Given the description of an element on the screen output the (x, y) to click on. 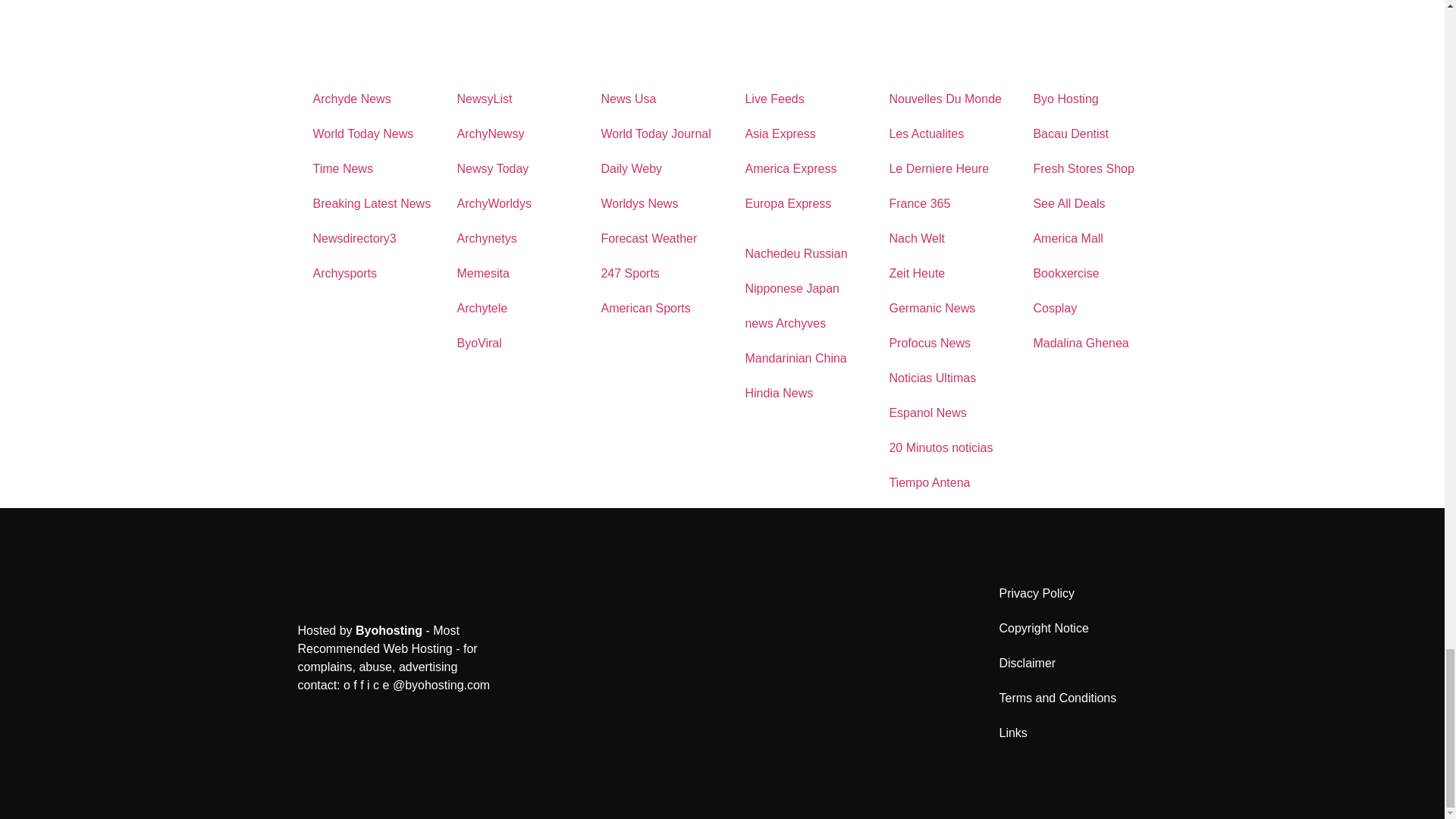
Most Recommended WebHosting (388, 630)
